Given the description of an element on the screen output the (x, y) to click on. 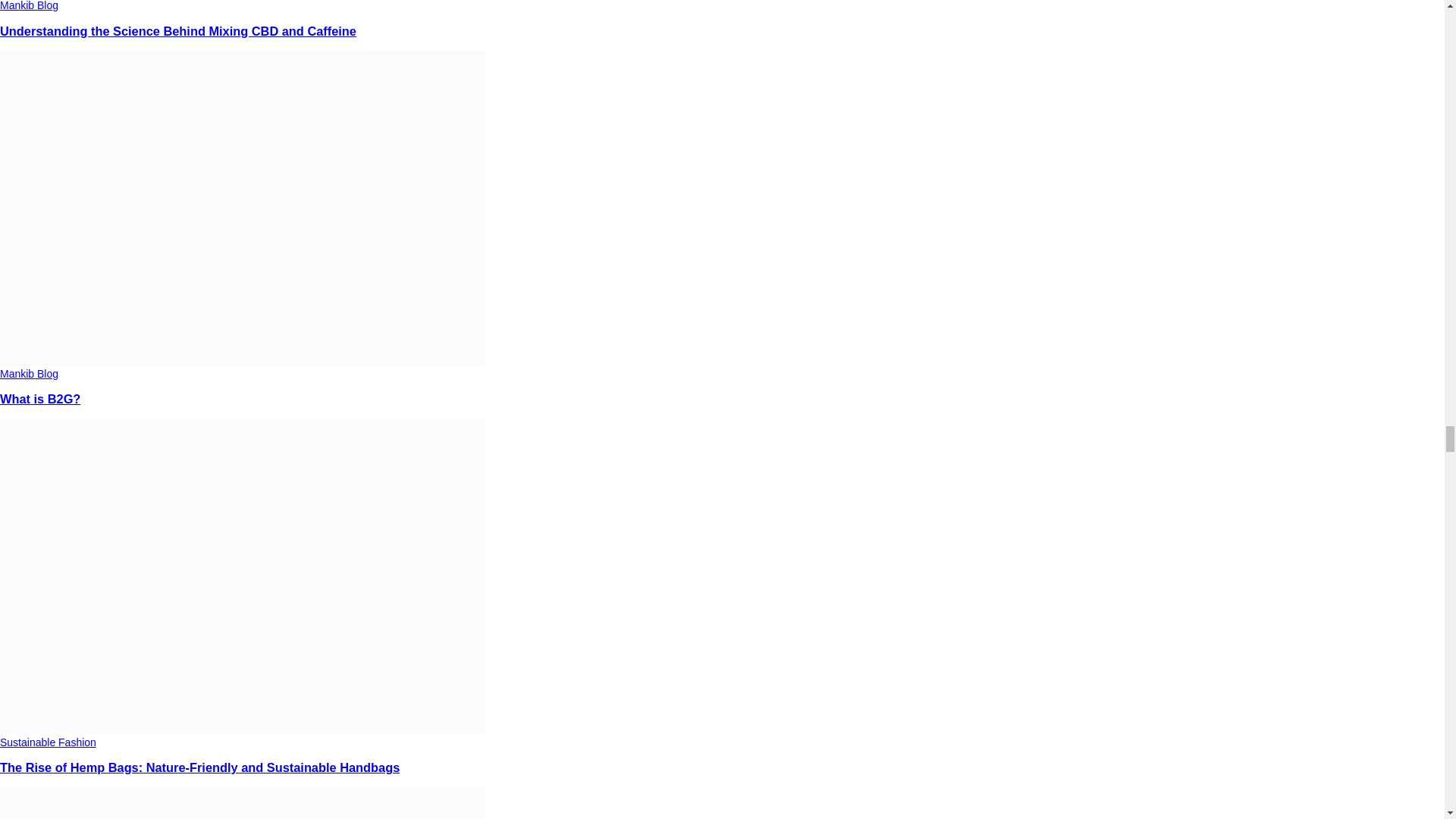
Sustainable Fashion (48, 742)
Understanding the Science Behind Mixing CBD and Caffeine (178, 30)
Mankib Blog (29, 5)
Mankib Blog (29, 373)
What is B2G? (40, 398)
